Given the description of an element on the screen output the (x, y) to click on. 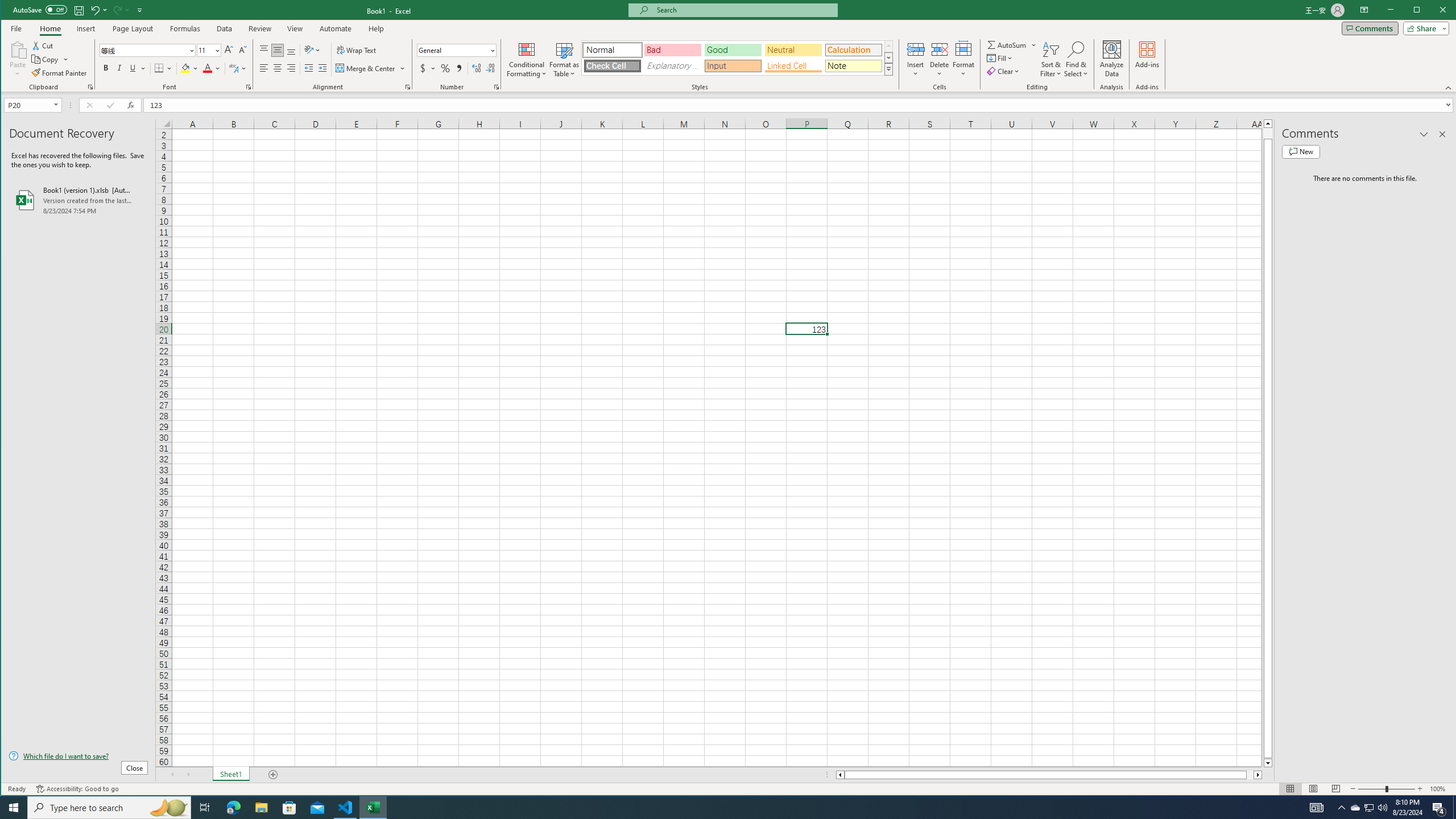
Top Align (263, 49)
Microsoft Store (289, 807)
Sort & Filter (1050, 59)
Note (853, 65)
Type here to search (1355, 807)
Insert Cells (108, 807)
AutomationID: CellStylesGallery (915, 48)
Paste (736, 57)
Center (17, 59)
